Given the description of an element on the screen output the (x, y) to click on. 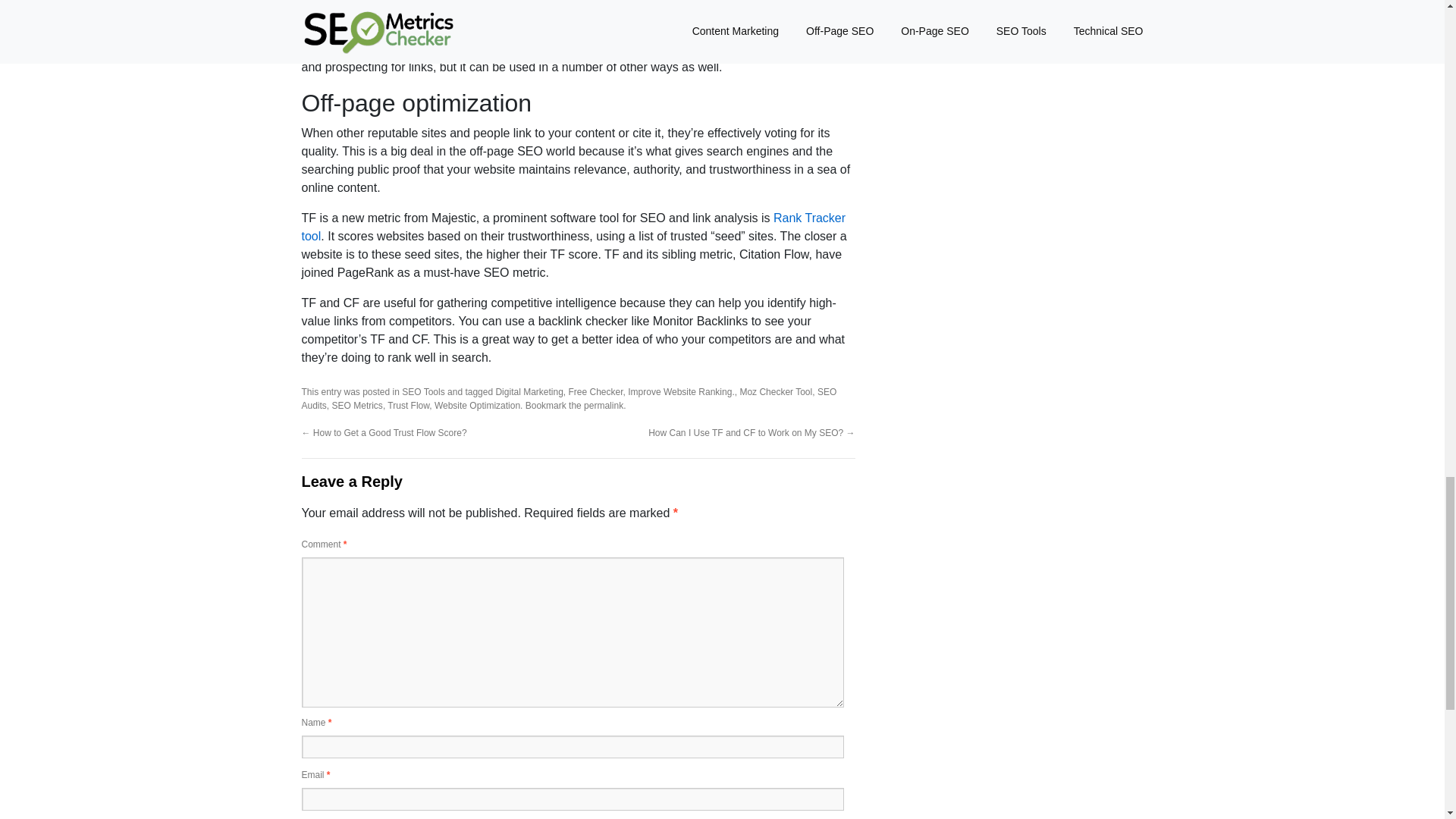
Website Optimization (476, 405)
SEO Metrics (356, 405)
Moz Checker Tool (775, 391)
Trust Flow (408, 405)
SEO Tools (422, 391)
SEO Audits (569, 398)
Free Checker (596, 391)
Improve Website Ranking. (681, 391)
Rank Tracker tool (573, 226)
Digital Marketing (528, 391)
permalink (603, 405)
